Given the description of an element on the screen output the (x, y) to click on. 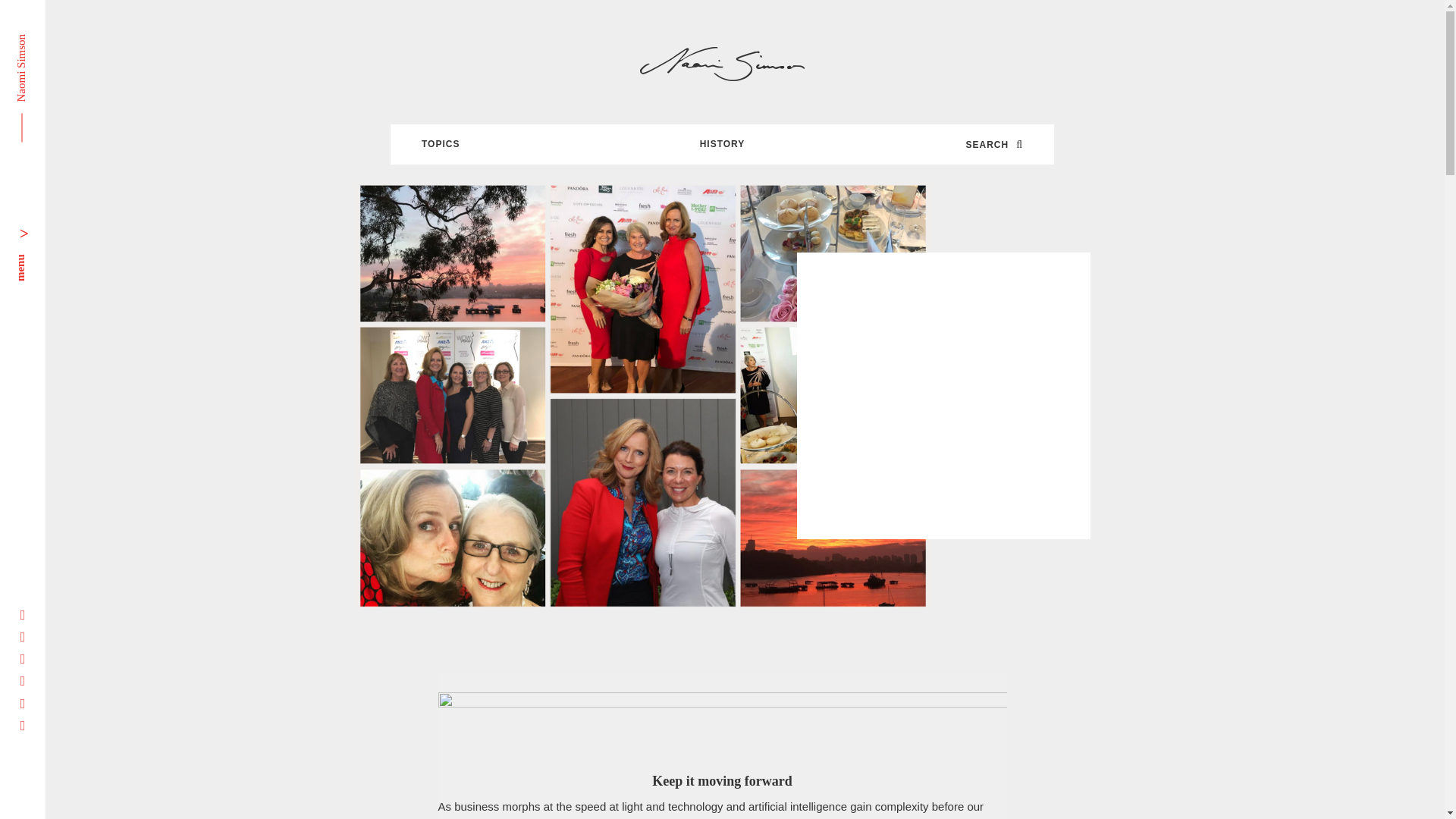
Naomi Simson (48, 39)
